Given the description of an element on the screen output the (x, y) to click on. 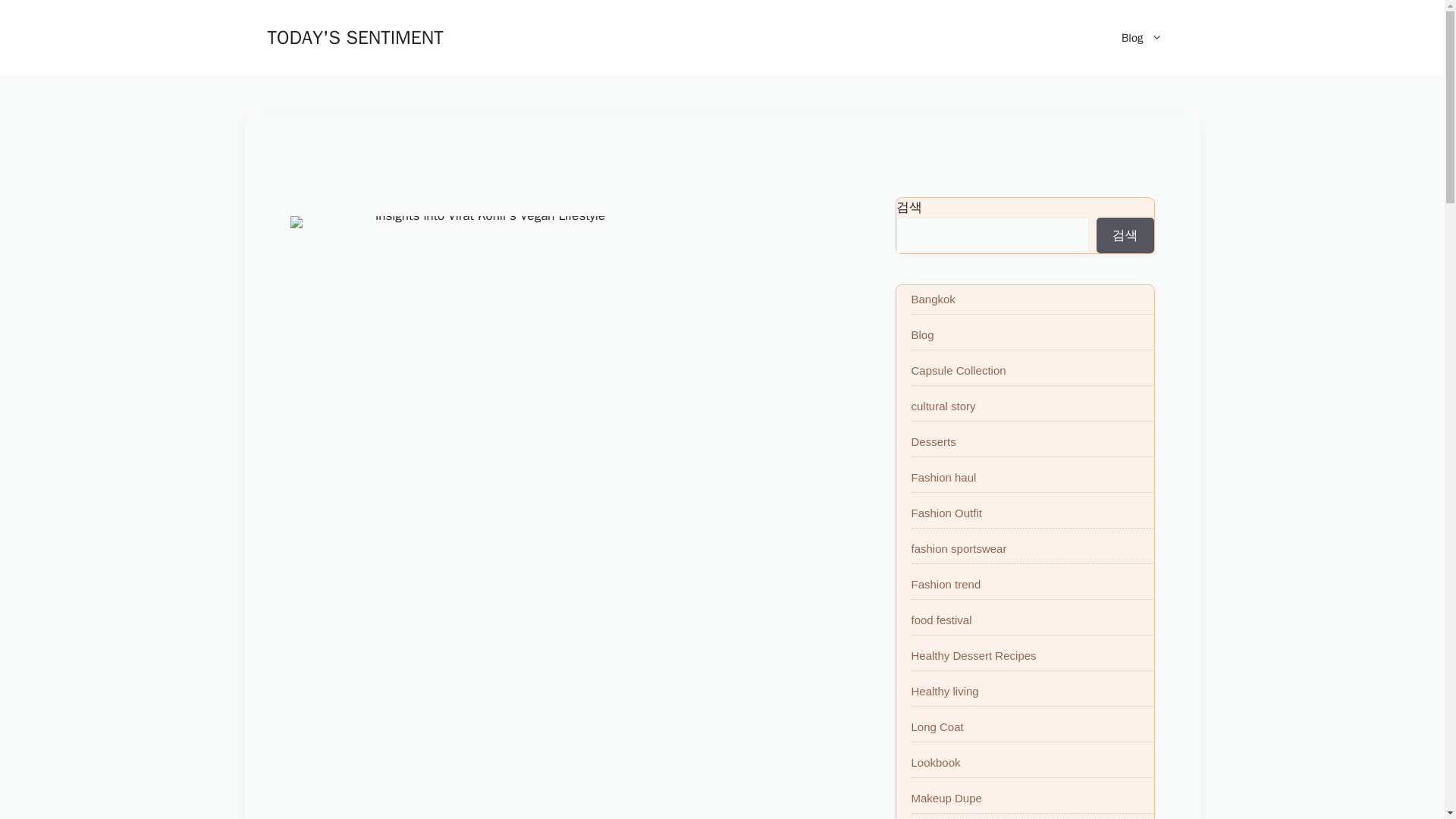
Fashion Outfit (946, 512)
Desserts (933, 440)
TODAY'S SENTIMENT (354, 37)
fashion sportswear (959, 548)
Blog (922, 334)
Bangkok (933, 298)
Capsule Collection (958, 369)
cultural story (943, 405)
Blog (1141, 37)
Fashion haul (943, 477)
